Given the description of an element on the screen output the (x, y) to click on. 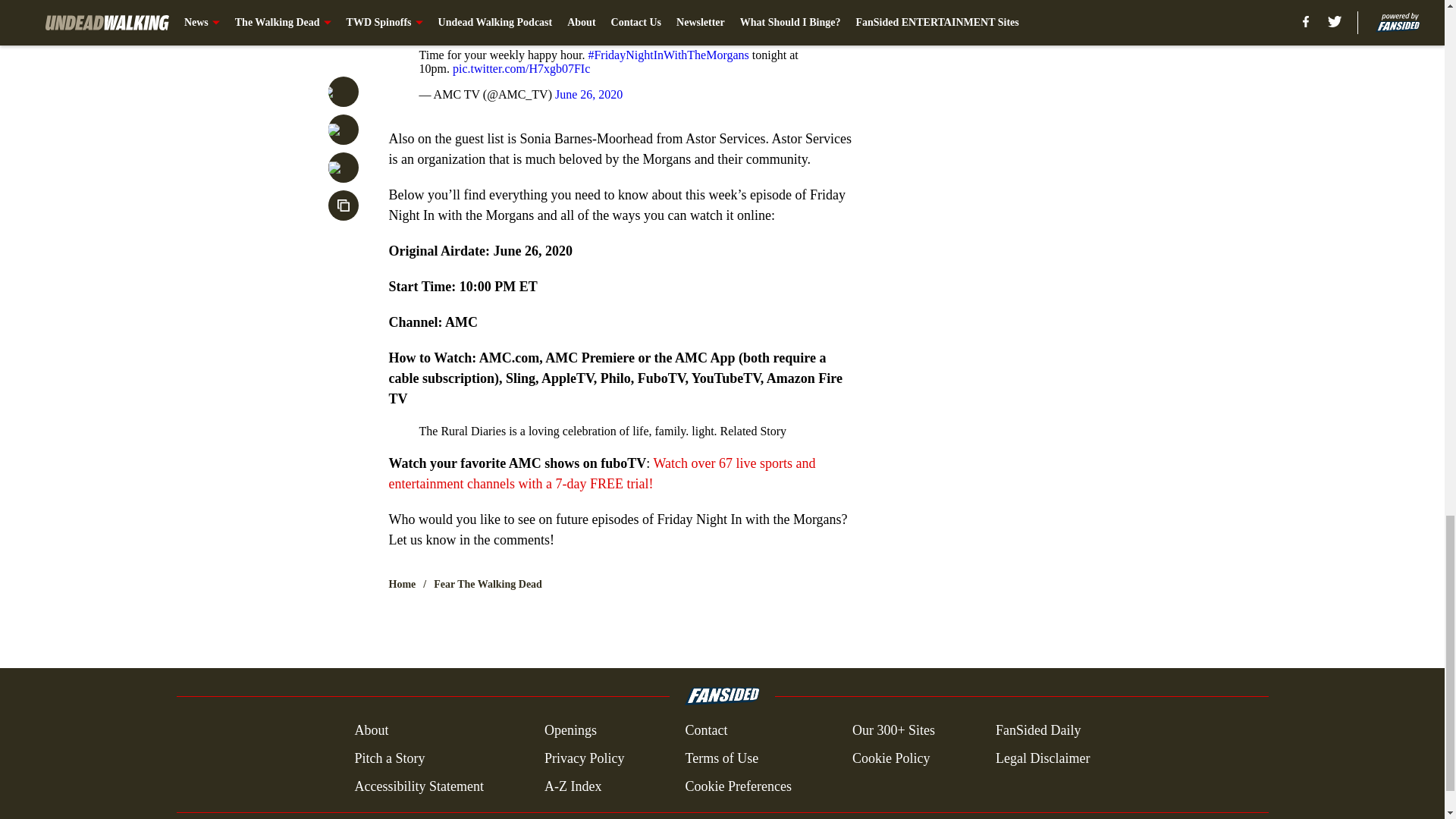
Openings (570, 730)
Home (401, 584)
Contact (705, 730)
June 26, 2020 (588, 93)
Fear The Walking Dead (487, 584)
About (370, 730)
